Given the description of an element on the screen output the (x, y) to click on. 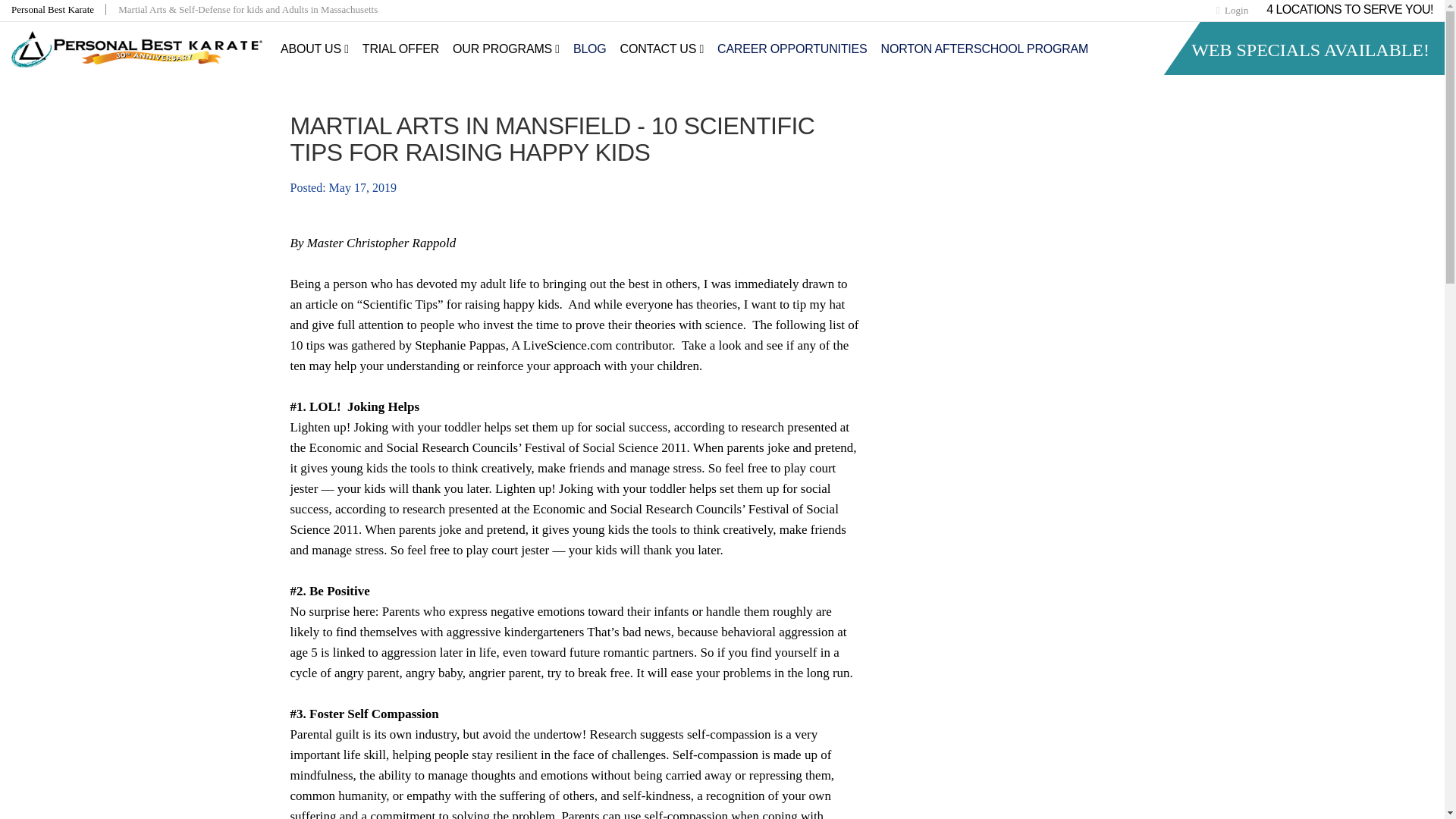
NORTON AFTERSCHOOL PROGRAM (985, 48)
Login (1231, 9)
BLOG (589, 48)
CAREER OPPORTUNITIES (792, 48)
CONTACT US (661, 48)
ABOUT US (314, 48)
OUR PROGRAMS (505, 48)
TRIAL OFFER (400, 48)
Personal Best Karate (58, 9)
